Given the description of an element on the screen output the (x, y) to click on. 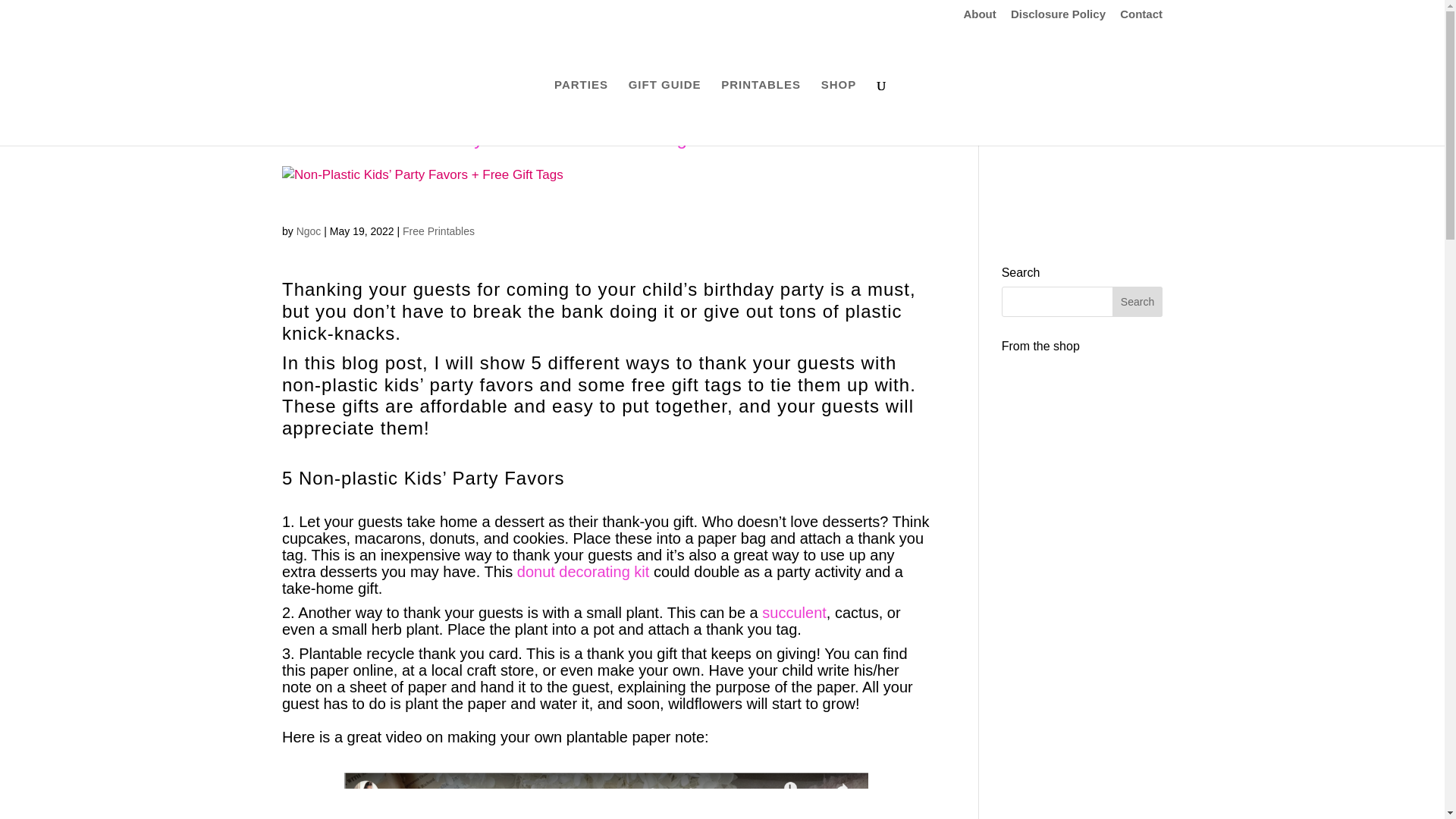
Disclosure Policy (1057, 17)
Free Printables (438, 231)
donut decorating (573, 571)
Ngoc (309, 231)
kit (641, 571)
Search (1136, 301)
Posts by Ngoc (309, 231)
About (978, 17)
succulent (794, 612)
PRINTABLES (760, 112)
Search (1136, 301)
Contact (1140, 17)
GIFT GUIDE (664, 112)
